Given the description of an element on the screen output the (x, y) to click on. 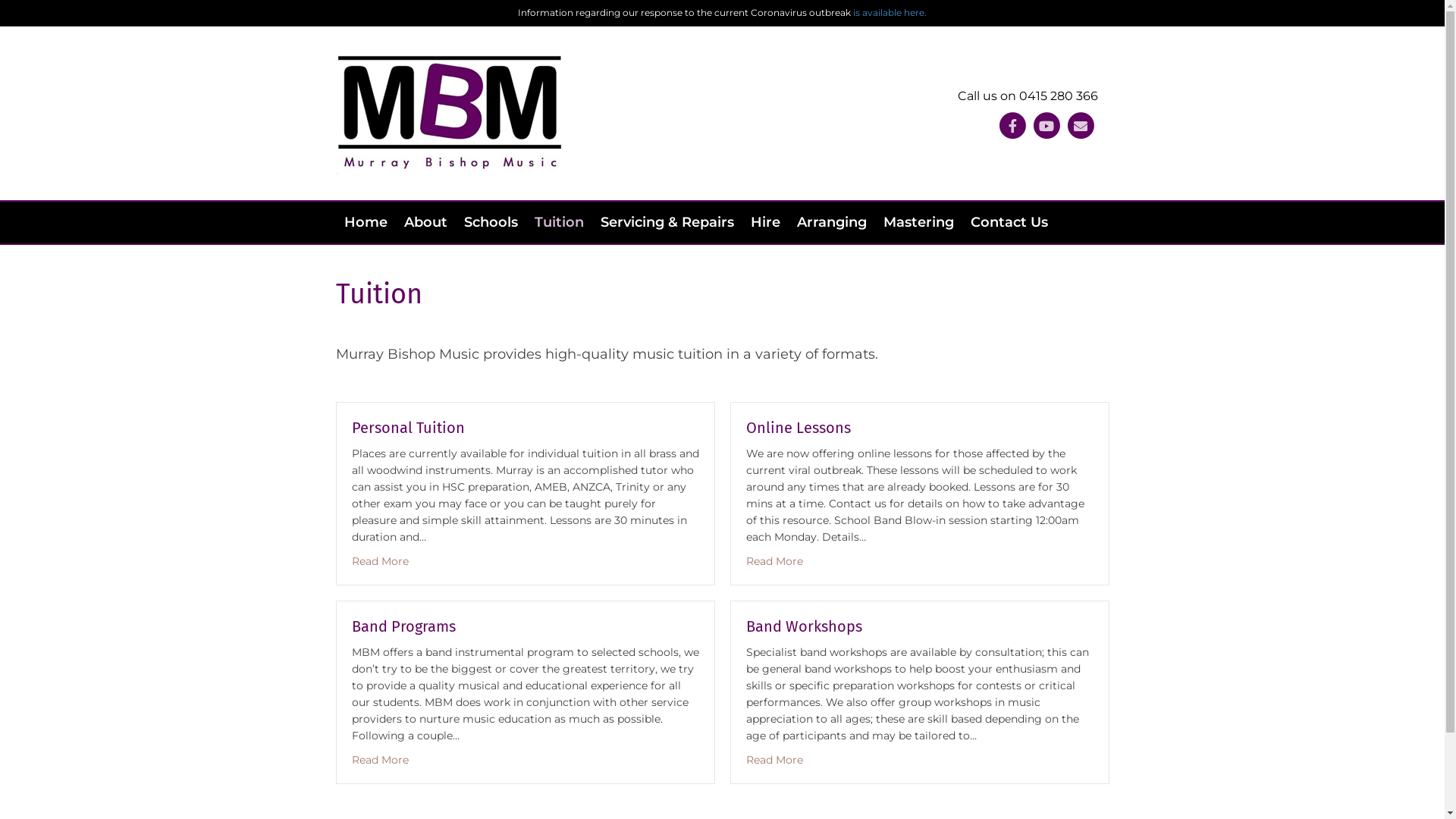
Email Element type: text (1080, 125)
Facebook Element type: text (1011, 125)
Read More Element type: text (379, 759)
is available here. Element type: text (889, 12)
Home Element type: text (365, 222)
Read More Element type: text (774, 759)
Schools Element type: text (490, 222)
Personal Tuition Element type: text (407, 427)
Online Lessons Element type: text (798, 427)
Youtube Element type: text (1046, 125)
Tuition Element type: text (559, 222)
Band Programs Element type: text (403, 626)
Read More Element type: text (379, 560)
About Element type: text (425, 222)
Mastering Element type: text (918, 222)
Servicing & Repairs Element type: text (666, 222)
Contact Us Element type: text (1008, 222)
Arranging Element type: text (831, 222)
Read More Element type: text (774, 560)
Band Workshops Element type: text (804, 626)
Hire Element type: text (764, 222)
